Given the description of an element on the screen output the (x, y) to click on. 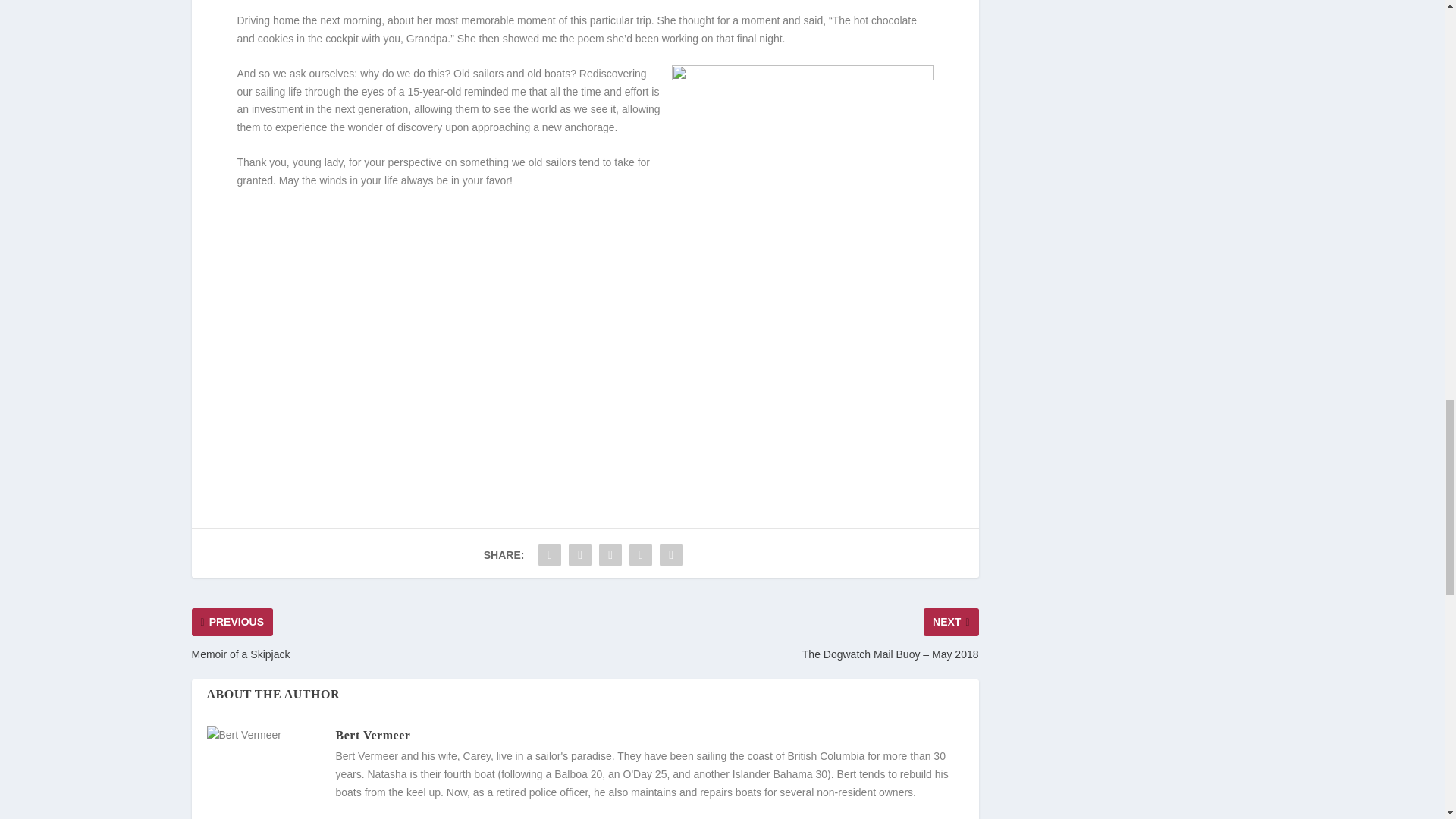
Bert Vermeer (372, 735)
View all posts by Bert Vermeer (372, 735)
Share "A Good Old Investment" via Pinterest (610, 554)
Share "A Good Old Investment" via Facebook (549, 554)
Share "A Good Old Investment" via Email (641, 554)
Share "A Good Old Investment" via Print (670, 554)
Share "A Good Old Investment" via Twitter (579, 554)
